Given the description of an element on the screen output the (x, y) to click on. 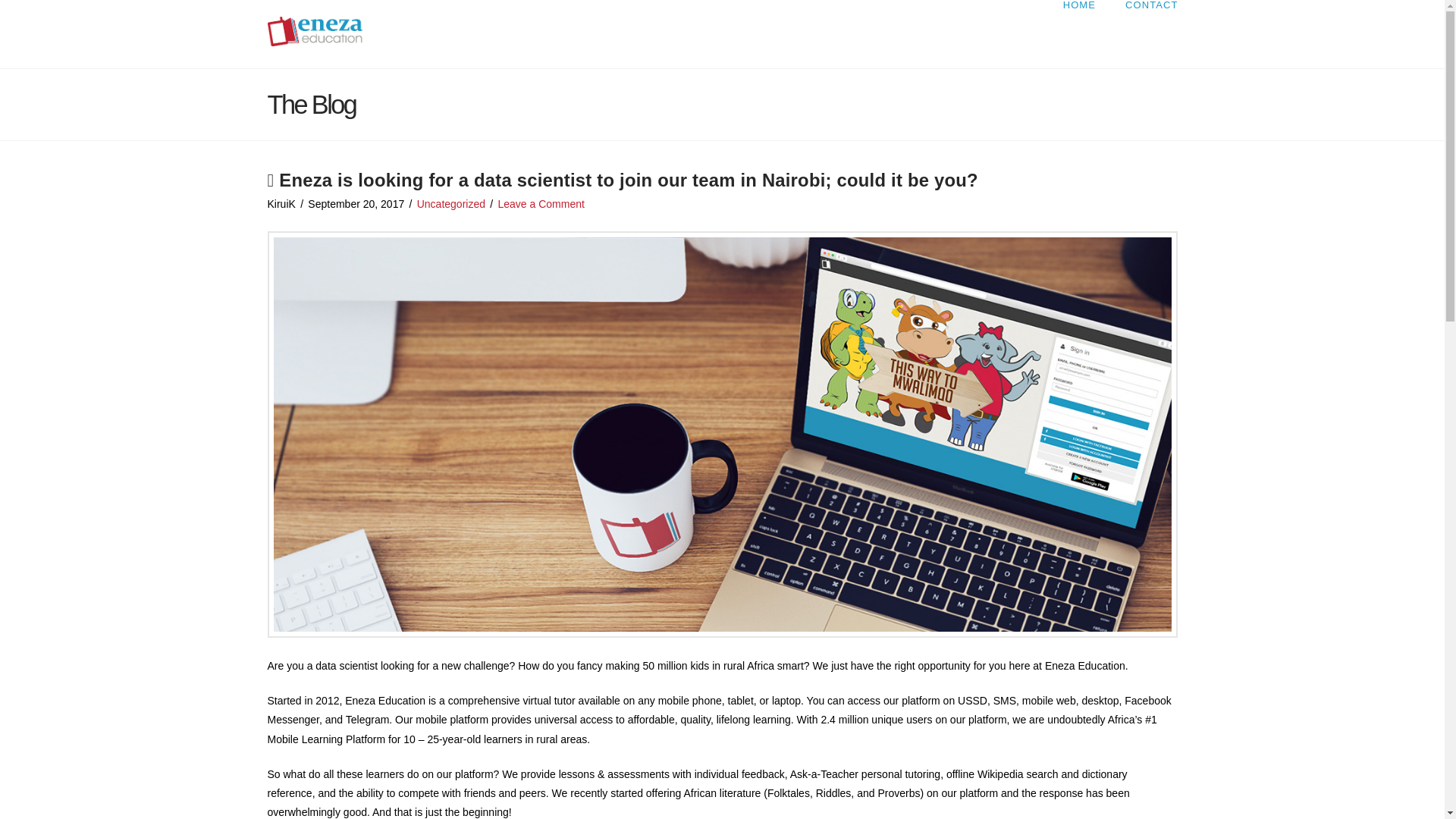
HOME (1078, 33)
Uncategorized (450, 203)
CONTACT (1143, 33)
Leave a Comment (540, 203)
